Given the description of an element on the screen output the (x, y) to click on. 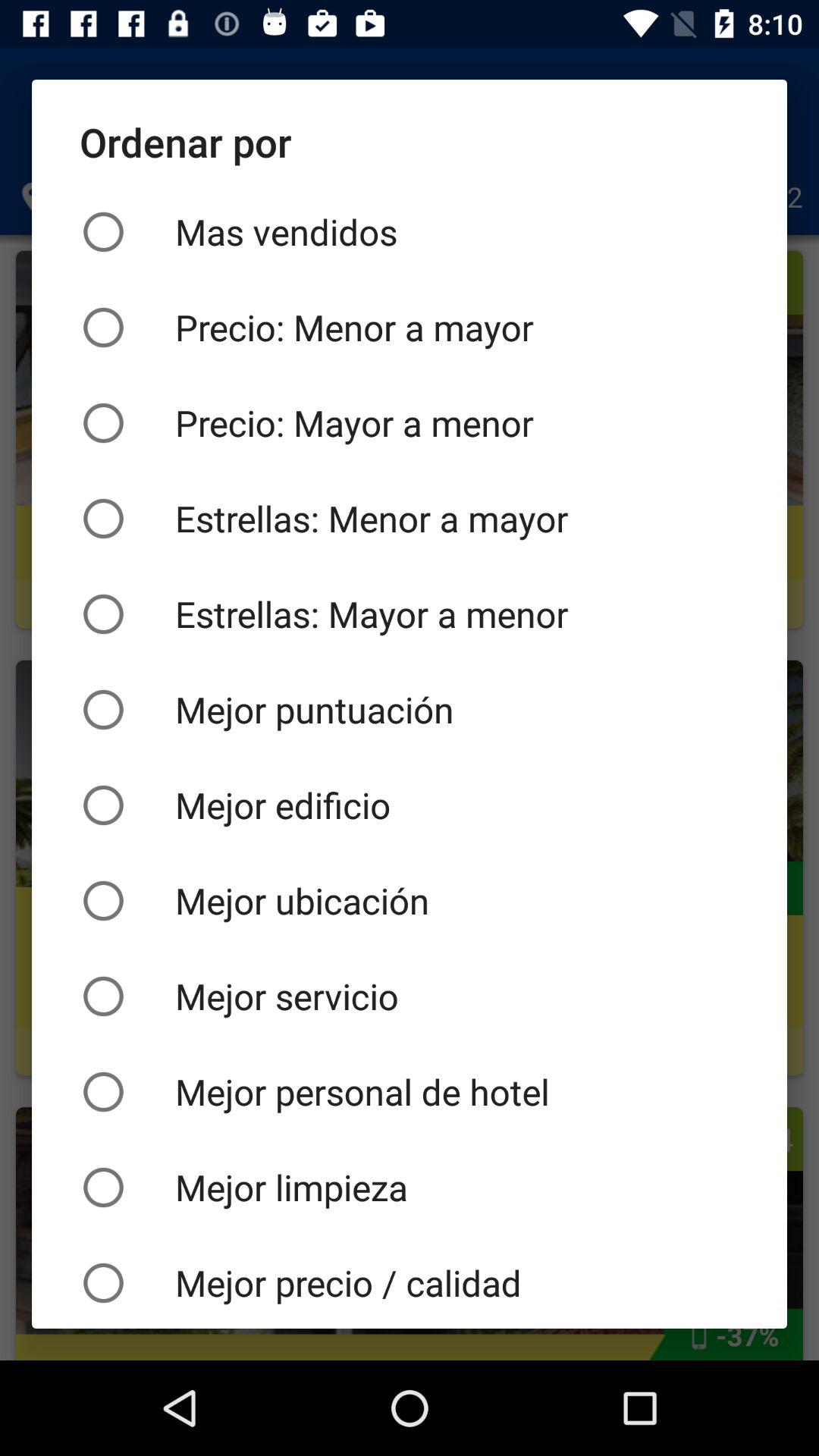
turn on mejor precio / calidad (409, 1281)
